Given the description of an element on the screen output the (x, y) to click on. 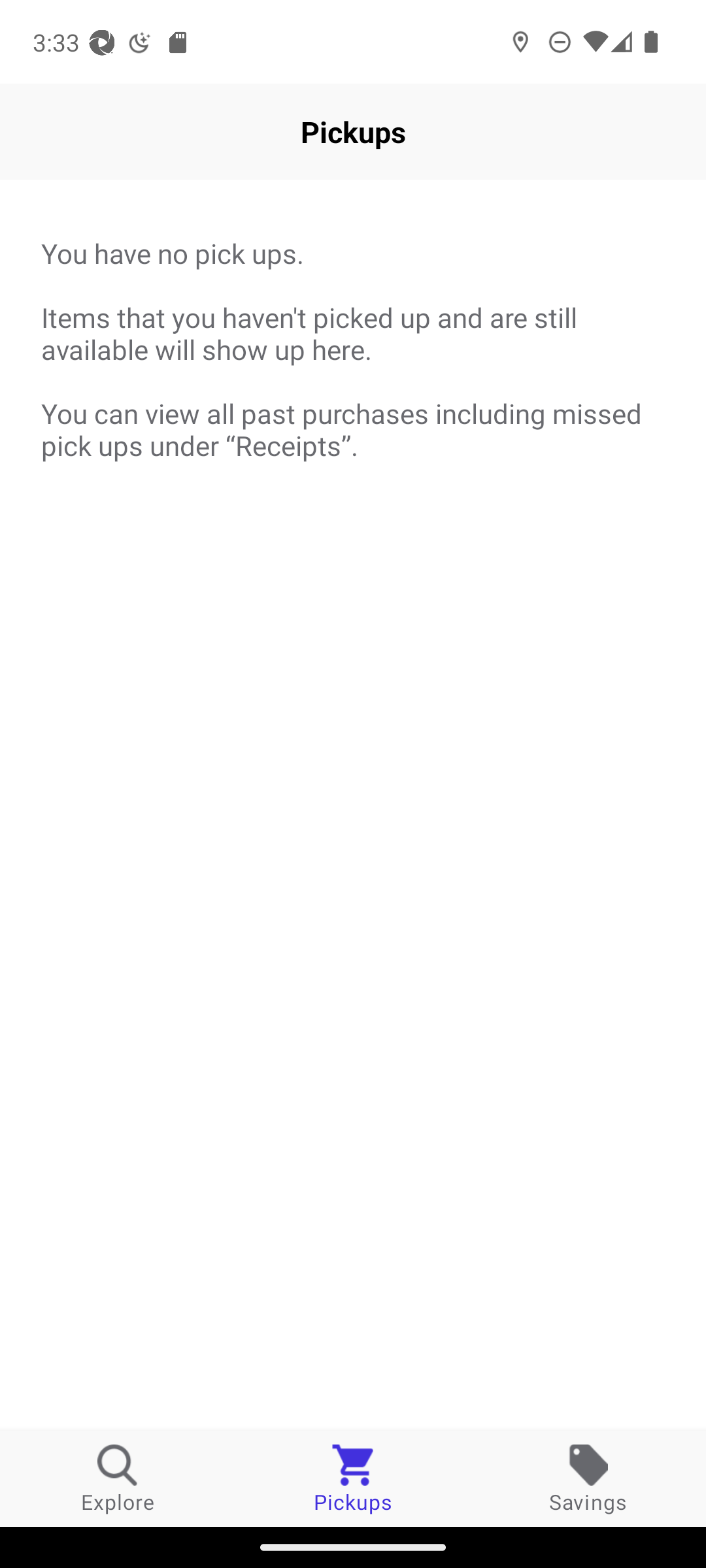
Explore (117, 1478)
Savings (588, 1478)
